Given the description of an element on the screen output the (x, y) to click on. 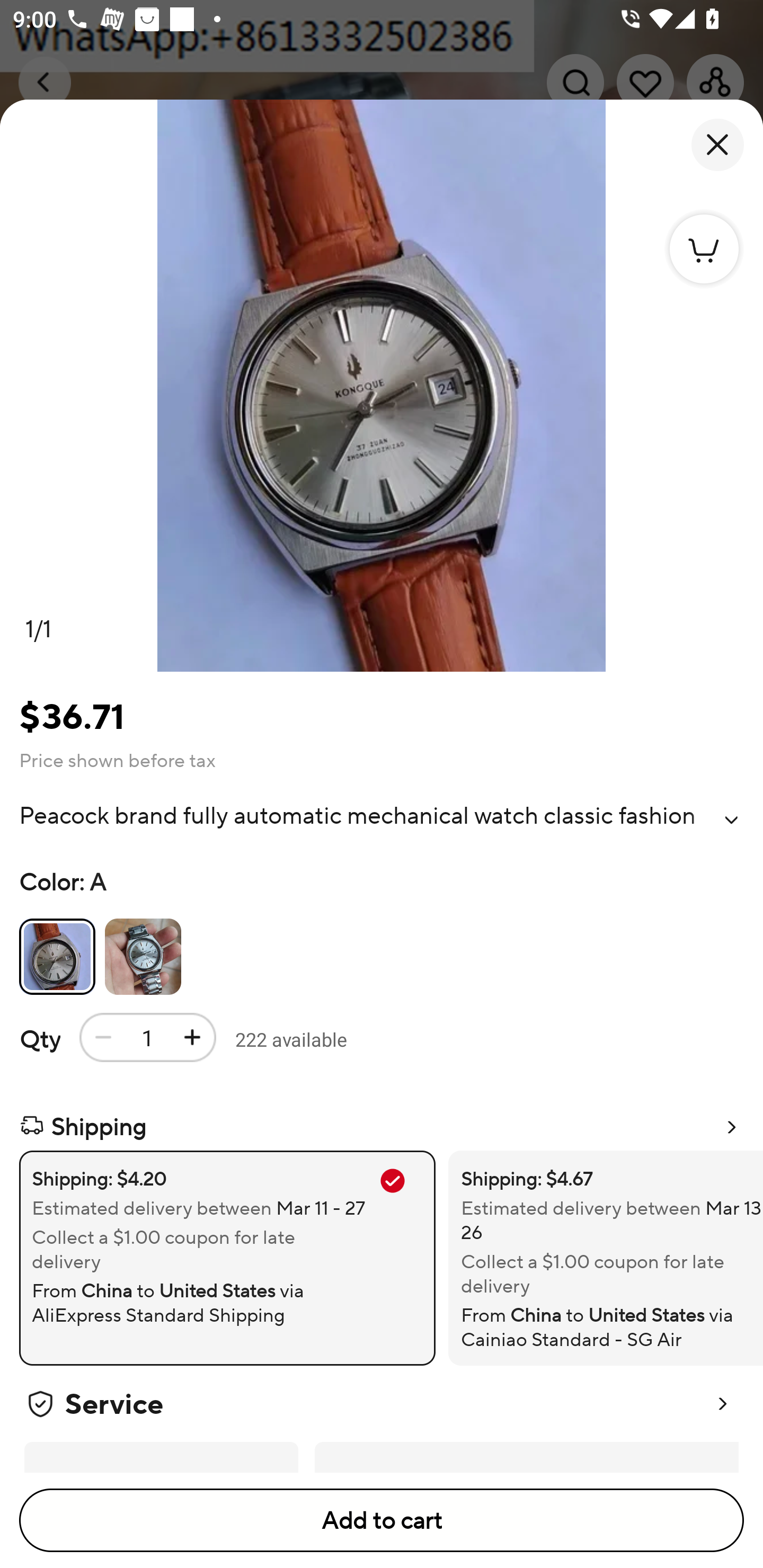
close  (717, 144)
 (730, 819)
Add to cart (381, 1520)
